Given the description of an element on the screen output the (x, y) to click on. 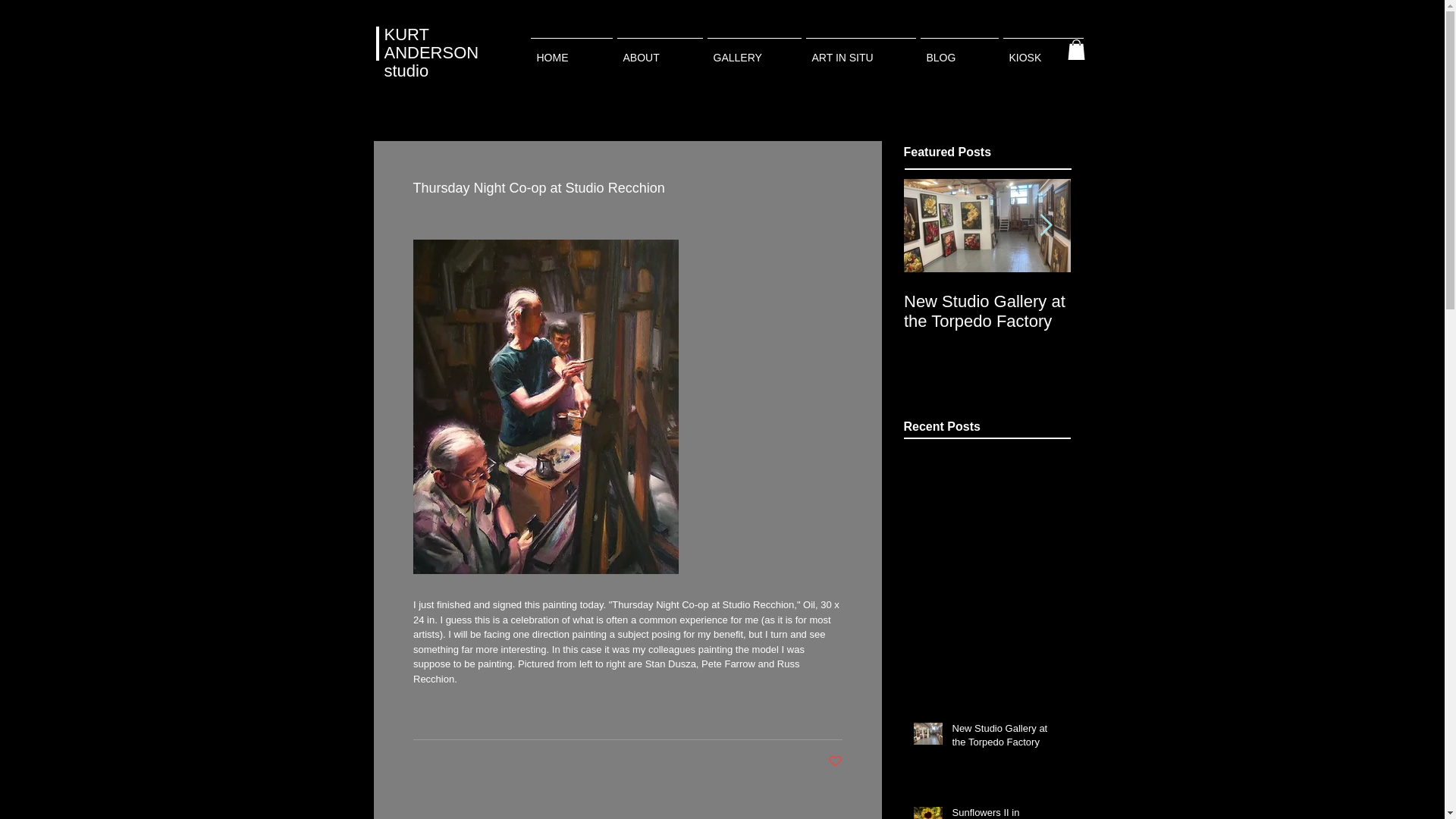
ABOUT (659, 50)
Sunflowers II in "Virtuosos of the OPA" (1006, 812)
New Studio Gallery at the Torpedo Factory (987, 311)
Award of Excellence at OPA Western Regional (1153, 321)
HOME (570, 50)
Post not marked as liked (835, 761)
BLOG (958, 50)
First Place in OPA National Wet Paint Competition (1321, 321)
KIOSK (1043, 50)
New Studio Gallery at the Torpedo Factory (1006, 738)
GALLERY (753, 50)
ART IN SITU (860, 50)
